Given the description of an element on the screen output the (x, y) to click on. 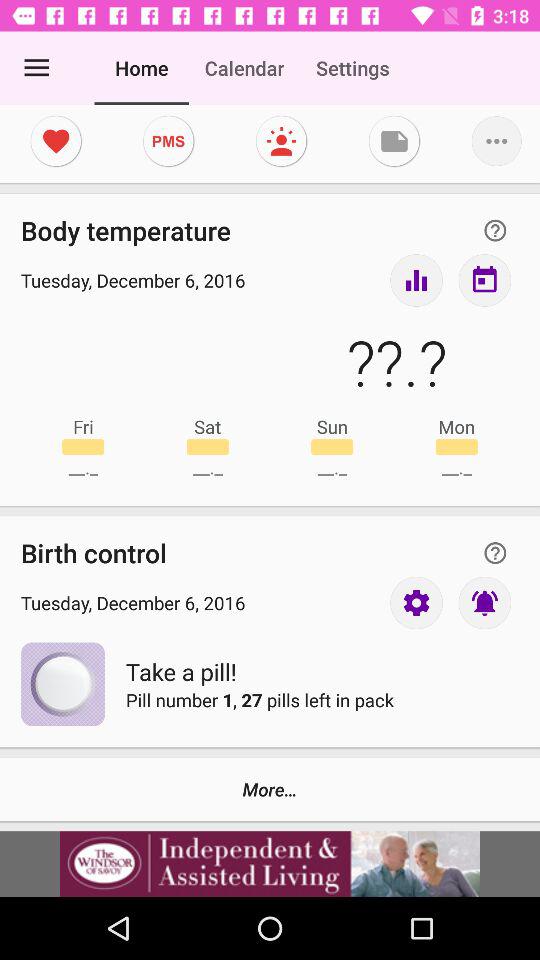
question icon (495, 230)
